Given the description of an element on the screen output the (x, y) to click on. 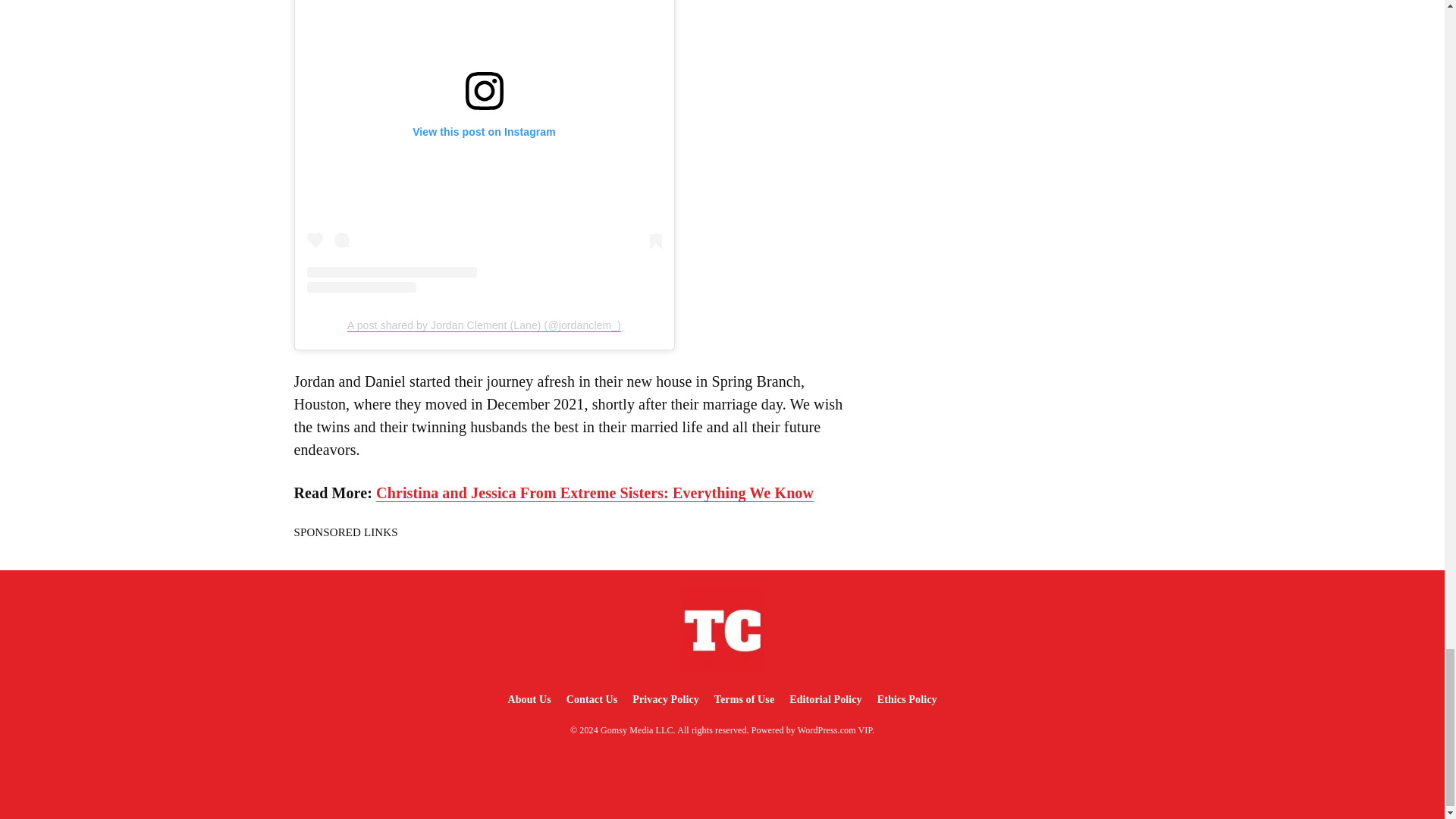
Editorial Policy (825, 699)
Ethics Policy (906, 699)
View this post on Instagram (483, 146)
Contact Us (592, 699)
About Us (528, 699)
WordPress.com VIP (834, 729)
Privacy Policy (665, 699)
Terms of Use (743, 699)
